Given the description of an element on the screen output the (x, y) to click on. 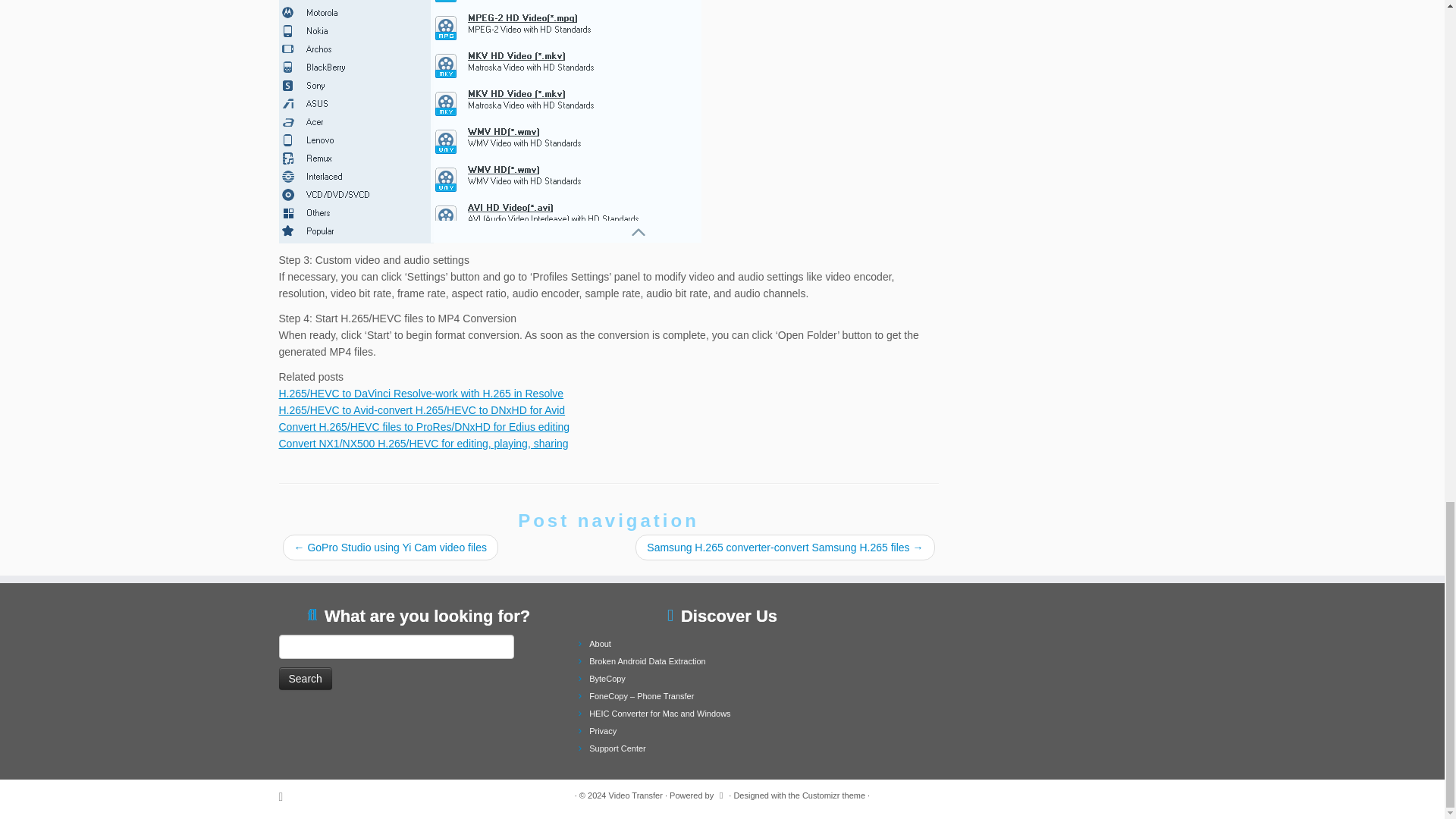
Search (305, 678)
Customizr theme (833, 795)
Follow us on Rss (286, 796)
Video Transfer (635, 795)
Powered by WordPress (721, 792)
